Given the description of an element on the screen output the (x, y) to click on. 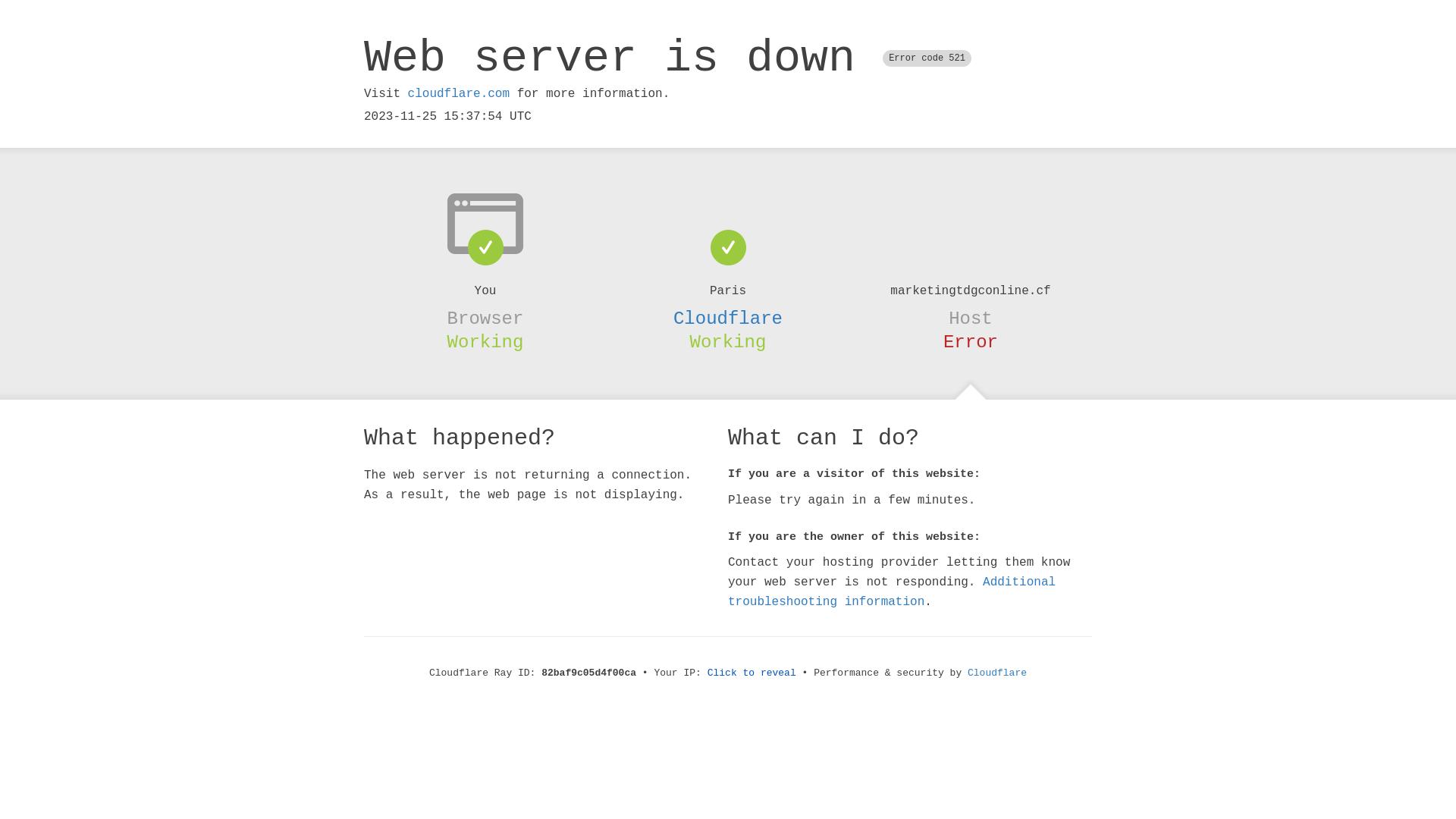
Cloudflare Element type: text (996, 672)
Click to reveal Element type: text (751, 672)
Additional troubleshooting information Element type: text (891, 591)
Cloudflare Element type: text (727, 318)
cloudflare.com Element type: text (458, 93)
